Given the description of an element on the screen output the (x, y) to click on. 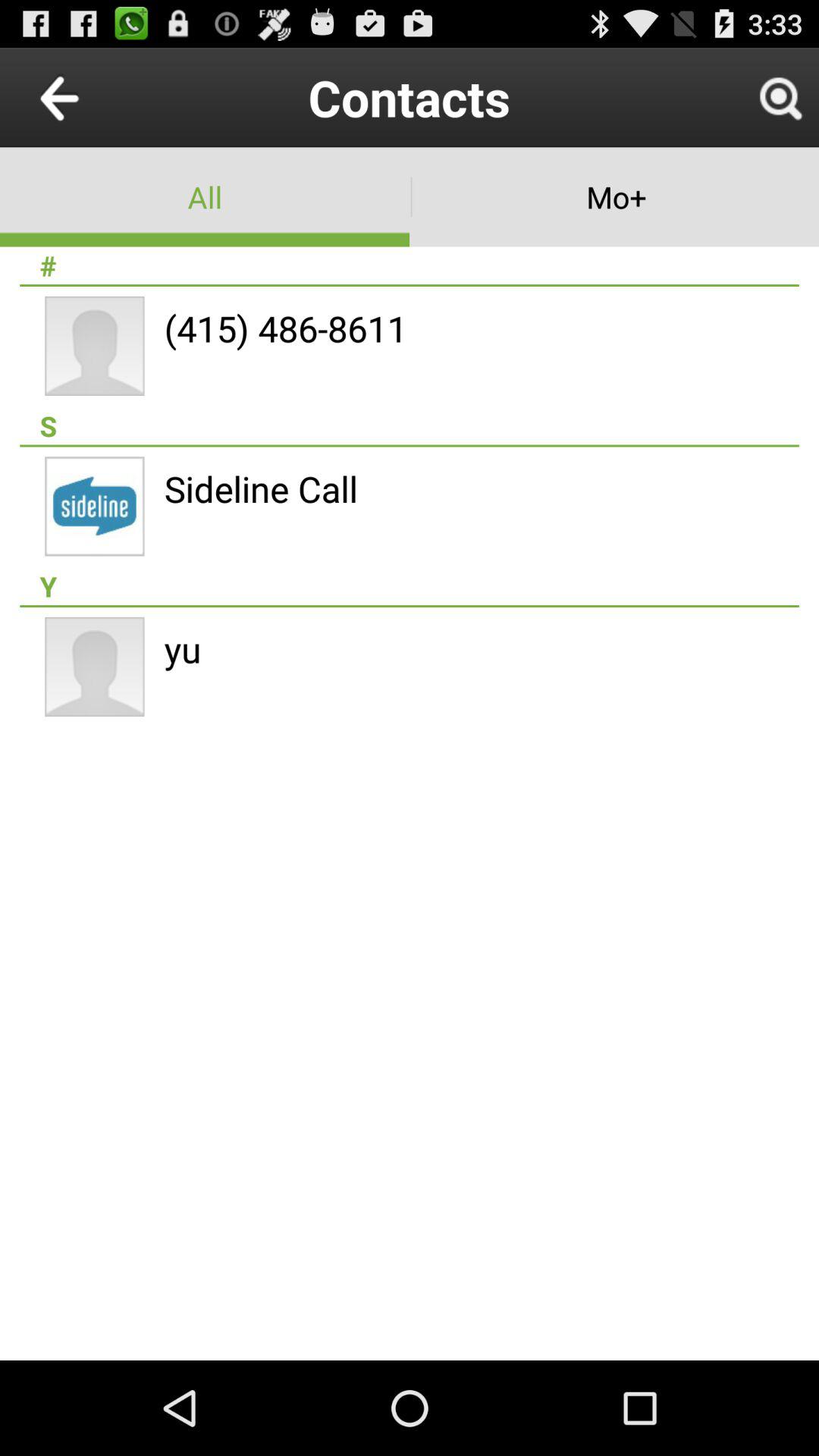
turn off the item above y app (260, 488)
